Given the description of an element on the screen output the (x, y) to click on. 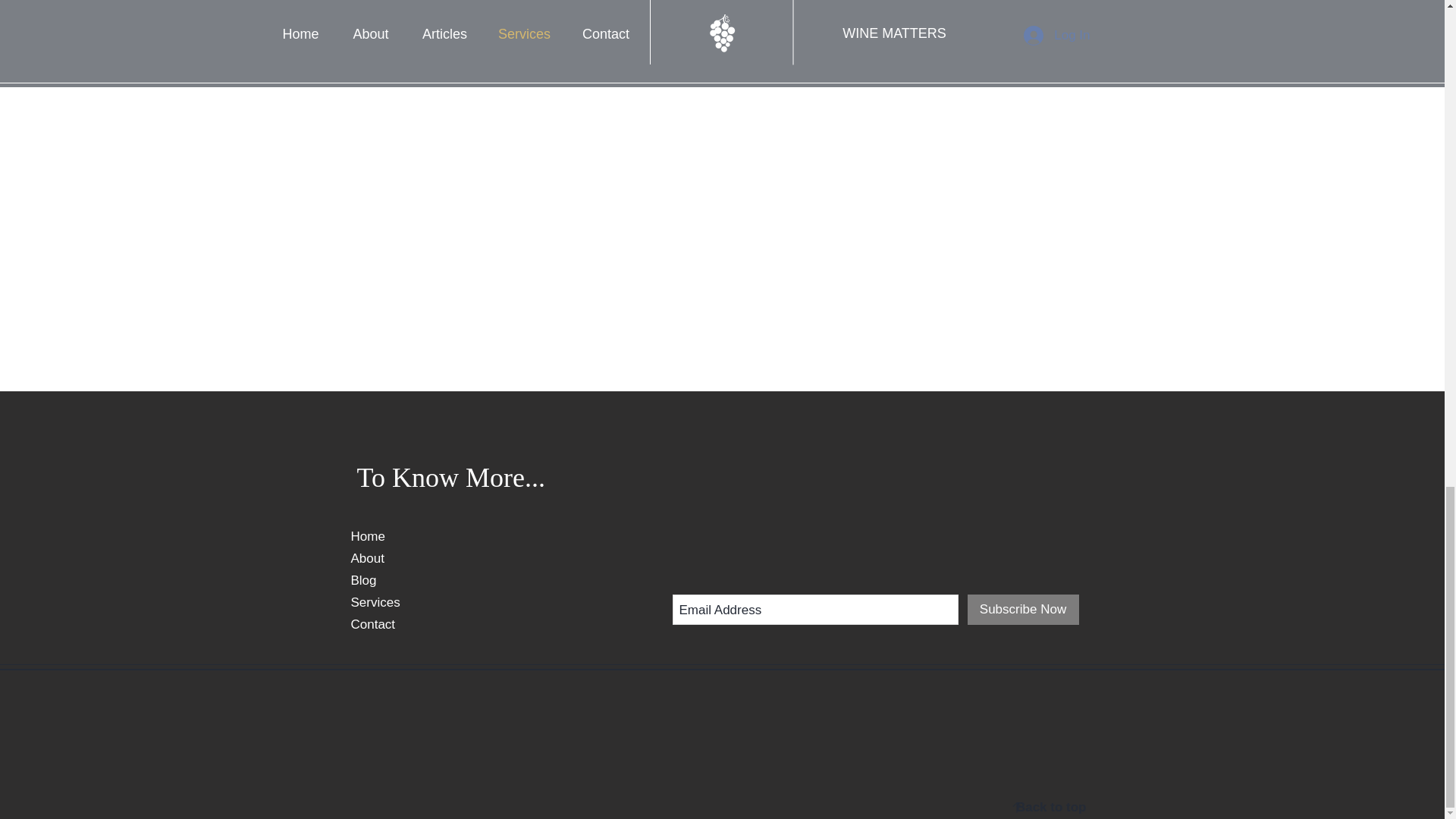
Services (374, 602)
Contact (372, 624)
Subscribe Now (1023, 609)
Home (367, 536)
Blog (362, 580)
About (367, 558)
Back to top (1051, 807)
